Given the description of an element on the screen output the (x, y) to click on. 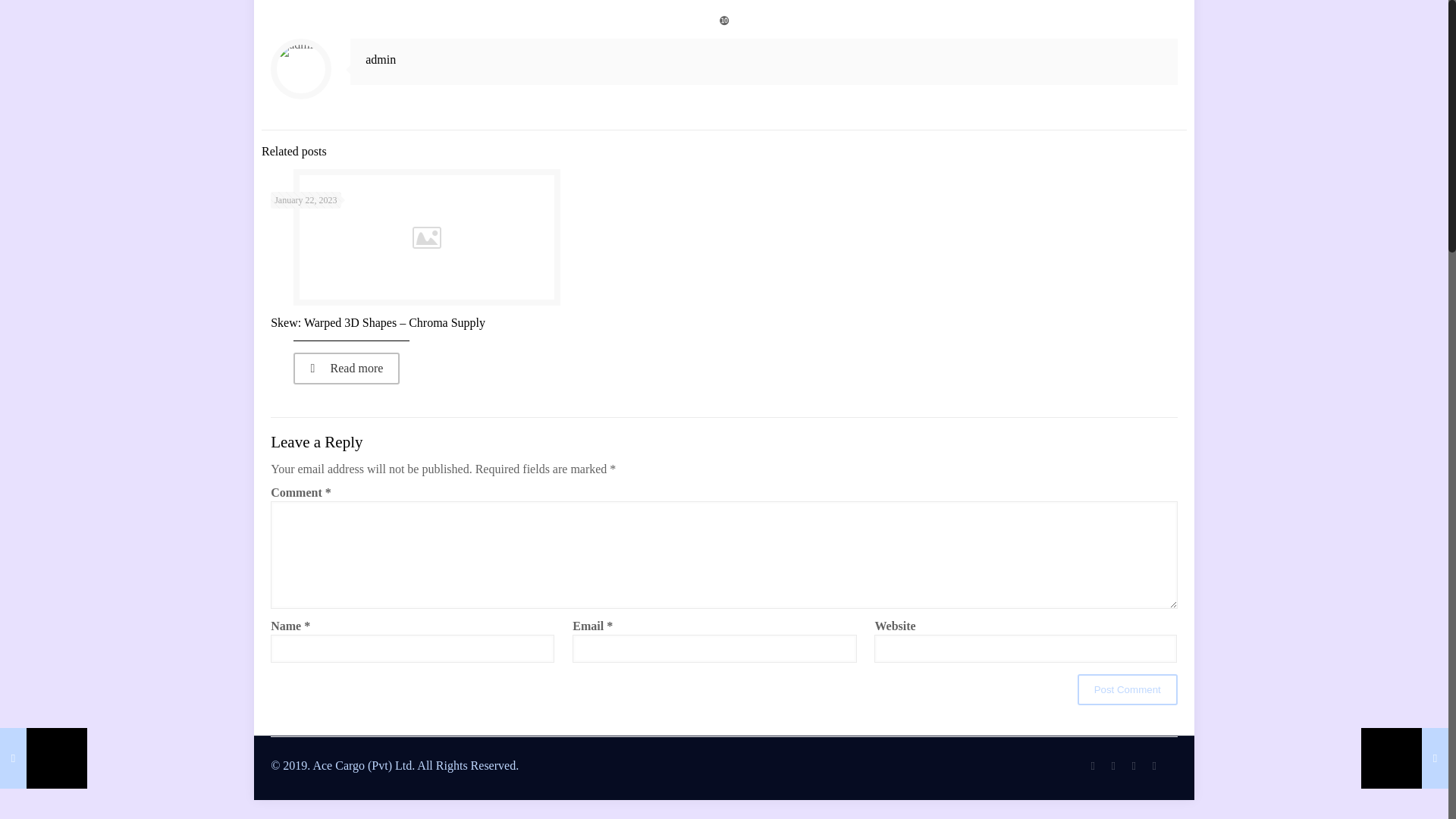
Post Comment (1127, 689)
